Given the description of an element on the screen output the (x, y) to click on. 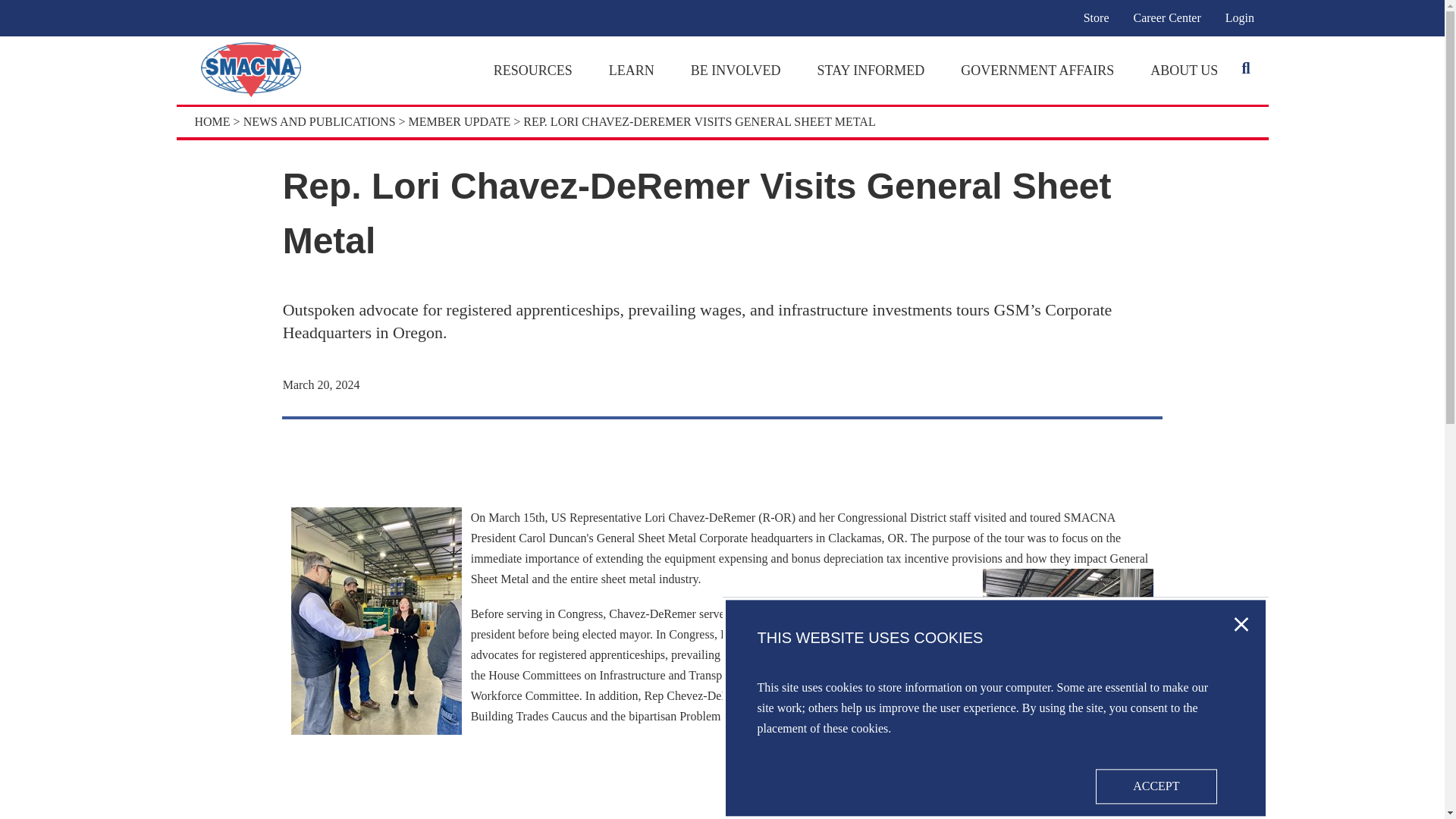
Store (1096, 17)
RESOURCES (532, 70)
LEARN (630, 70)
Login (1239, 17)
Career Center (1166, 17)
